Given the description of an element on the screen output the (x, y) to click on. 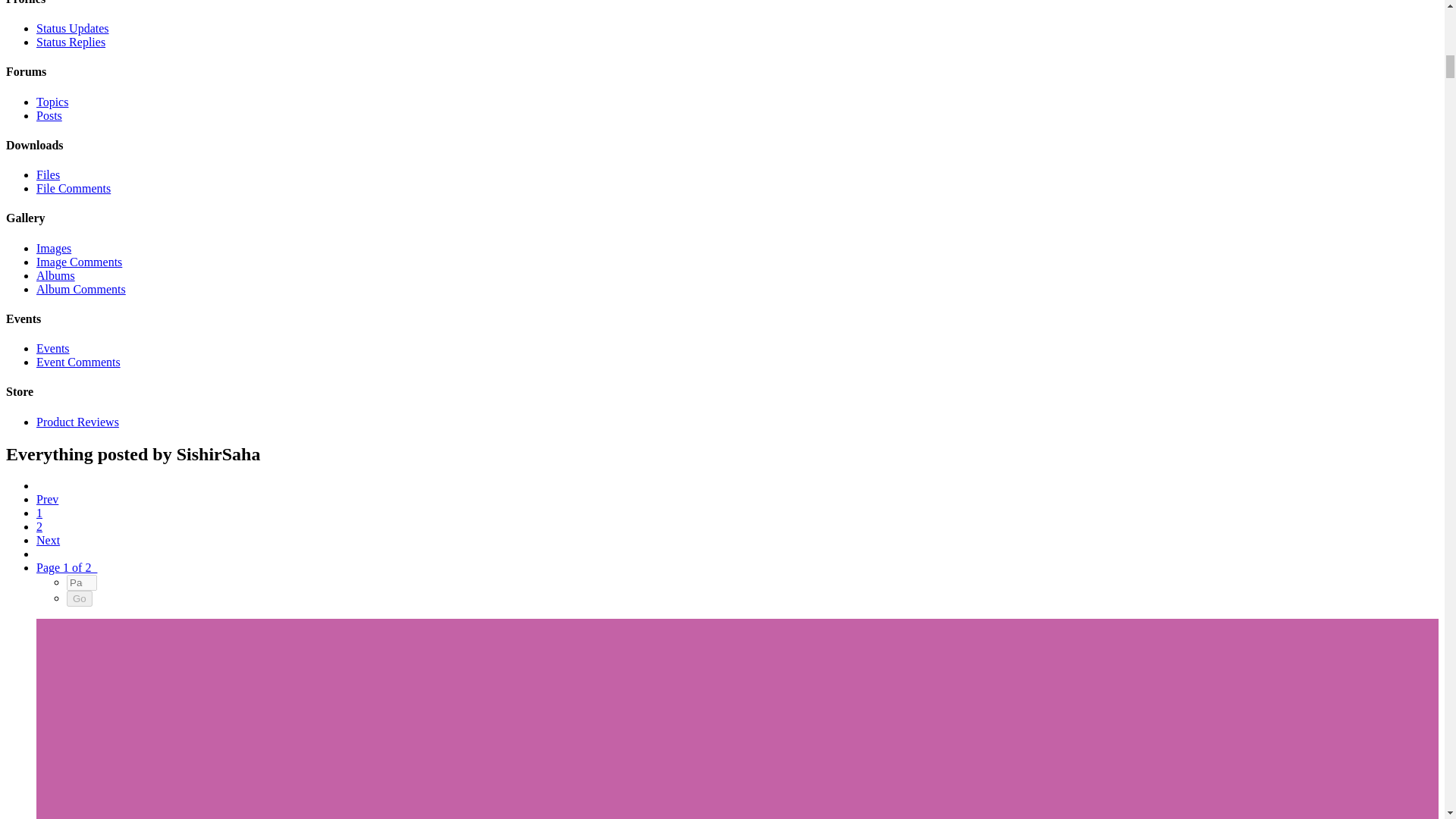
Images (53, 247)
Go (79, 598)
Previous page (47, 499)
Album Comments (80, 288)
Posts (49, 115)
Next page (47, 540)
Image Comments (79, 261)
Status Replies (70, 42)
Albums (55, 275)
Status Updates (72, 28)
